Given the description of an element on the screen output the (x, y) to click on. 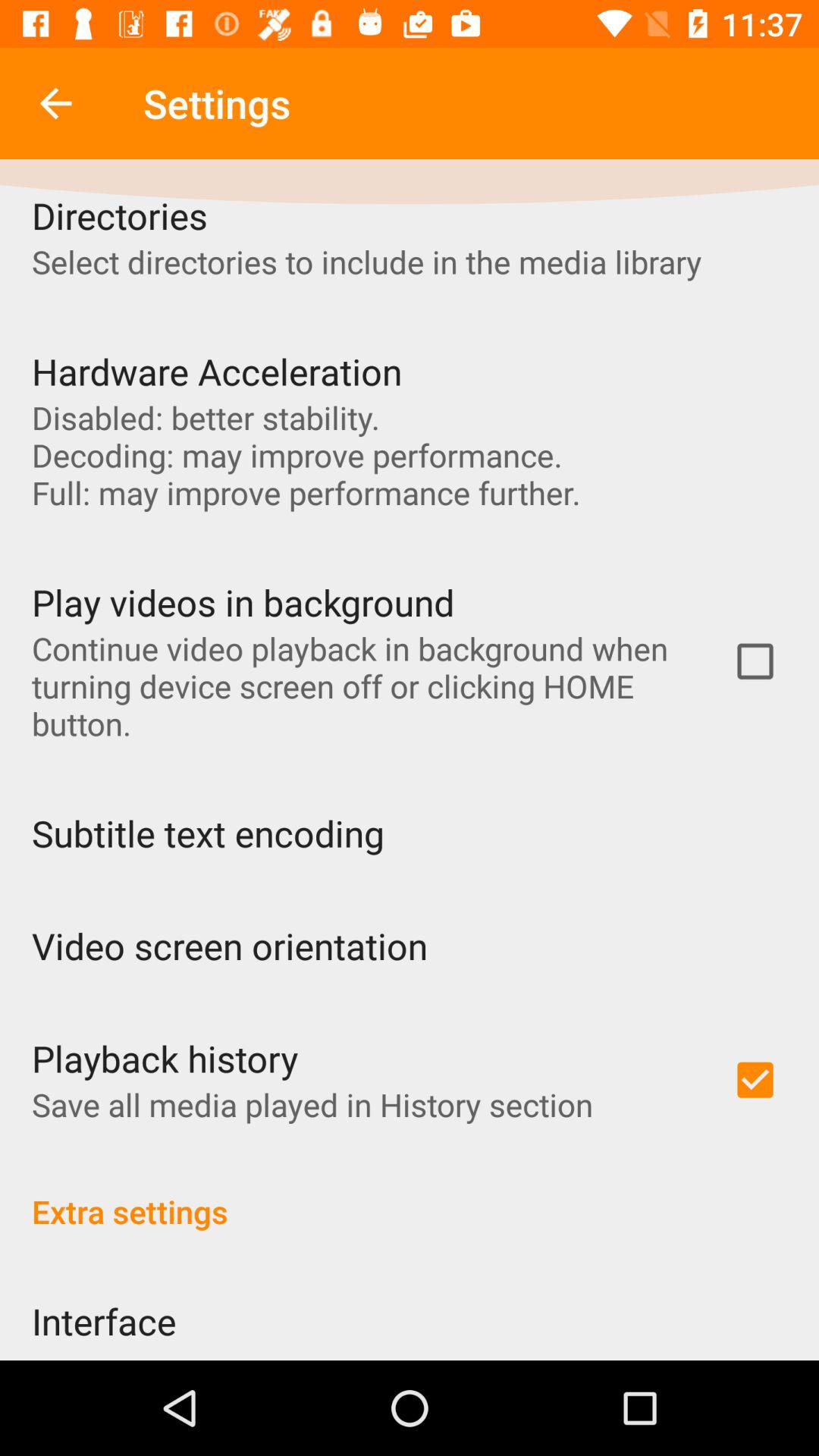
turn on the item to the left of the settings app (55, 103)
